Given the description of an element on the screen output the (x, y) to click on. 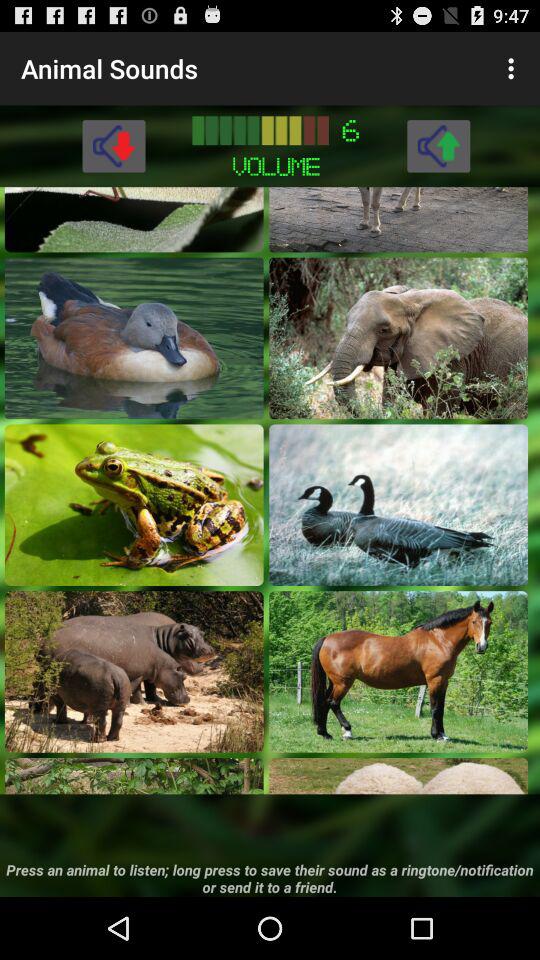
turn off item next to animal sounds item (513, 67)
